Given the description of an element on the screen output the (x, y) to click on. 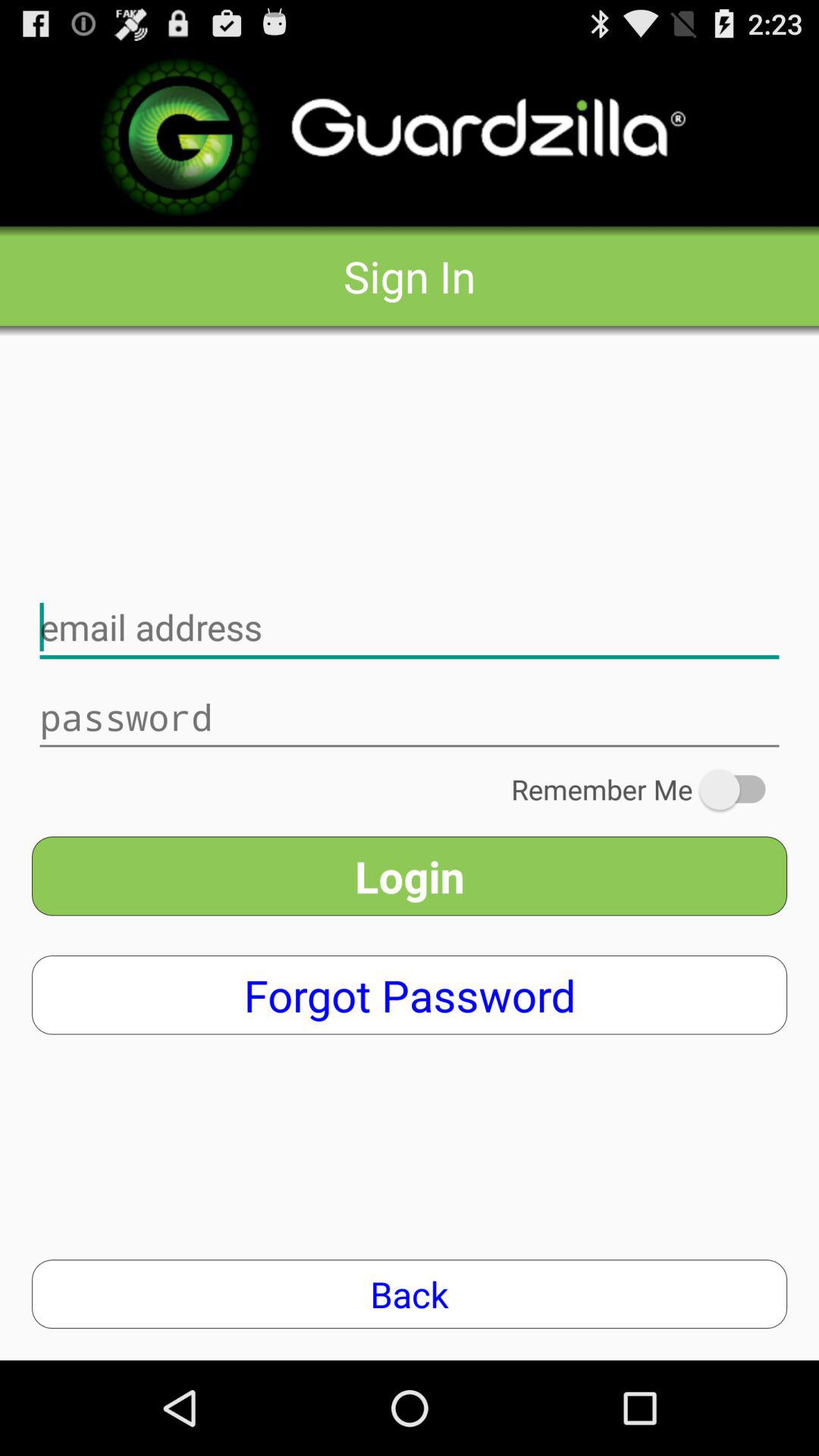
jump until the remember me icon (649, 789)
